Given the description of an element on the screen output the (x, y) to click on. 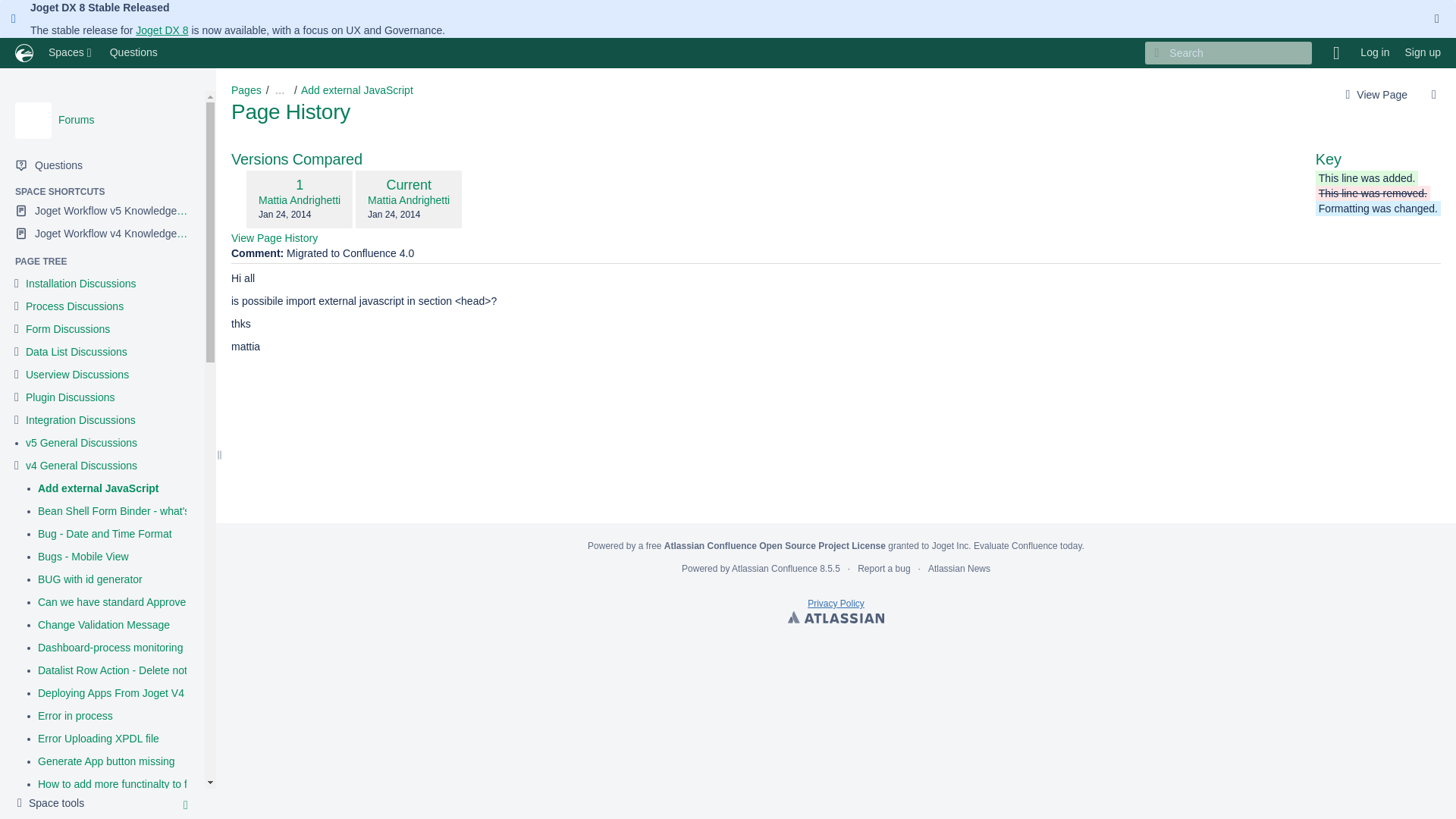
Joget Workflow v5 Knowledge Base (101, 210)
Userview Discussions (77, 375)
Forums (32, 120)
Spaces (70, 52)
Sign up (1422, 52)
Questions (101, 164)
Integration Discussions (80, 420)
Log in (1374, 52)
v5 General Discussions (81, 443)
Joget DX 8 (161, 30)
Help (1335, 52)
Questions (133, 52)
Form Discussions (68, 329)
Spaces (70, 52)
Forums (76, 119)
